Given the description of an element on the screen output the (x, y) to click on. 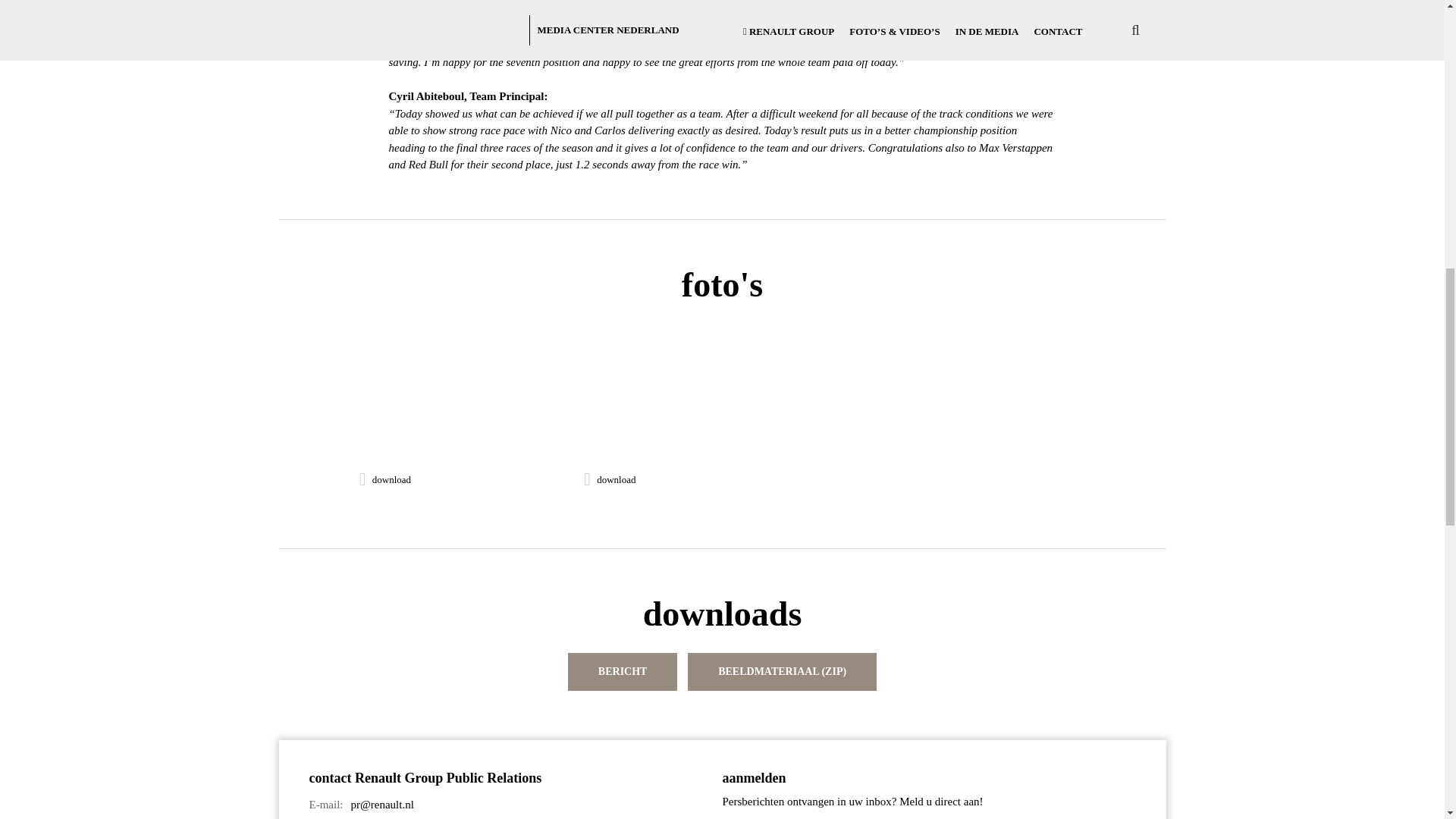
download (609, 477)
download (385, 477)
BERICHT (622, 671)
